Given the description of an element on the screen output the (x, y) to click on. 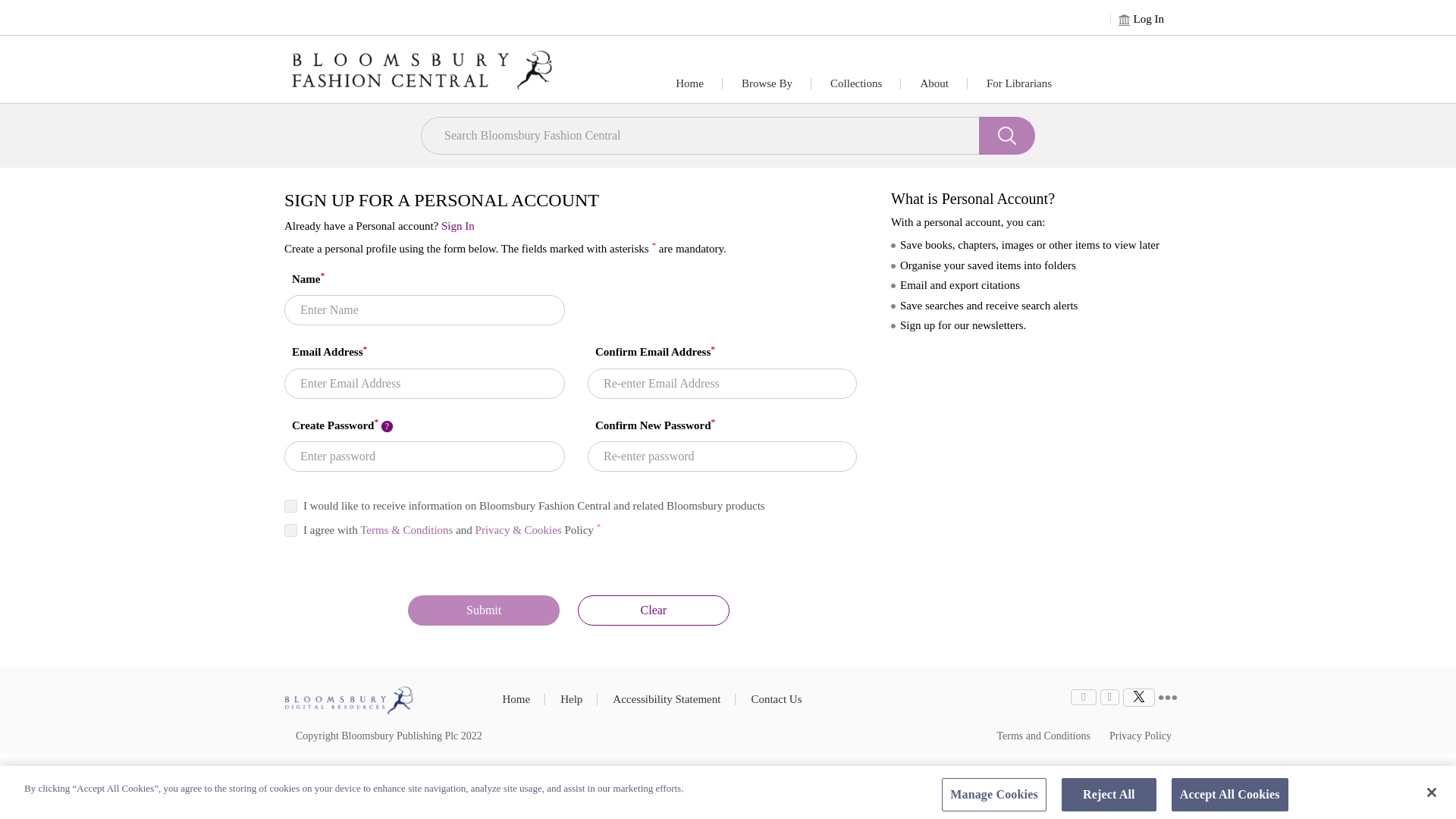
Clear (653, 610)
Submit (483, 610)
